Given the description of an element on the screen output the (x, y) to click on. 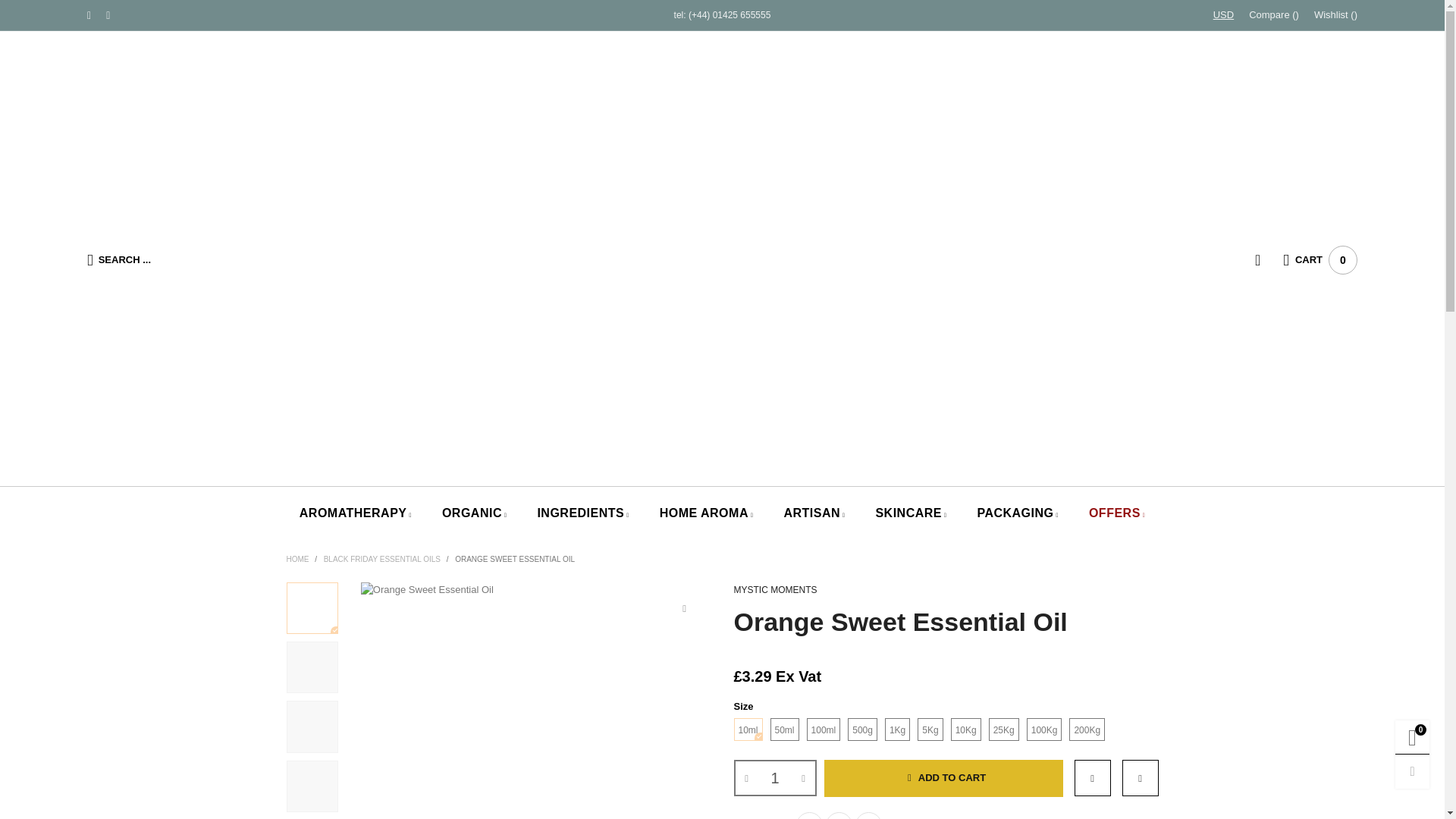
Packaging (1017, 514)
Ingredients (582, 514)
USD (1223, 15)
Artisan (813, 514)
Twitter (89, 15)
HOME AROMA (706, 514)
Login (1268, 259)
Facebook (108, 15)
Currency (1223, 15)
Cart (1319, 259)
